Given the description of an element on the screen output the (x, y) to click on. 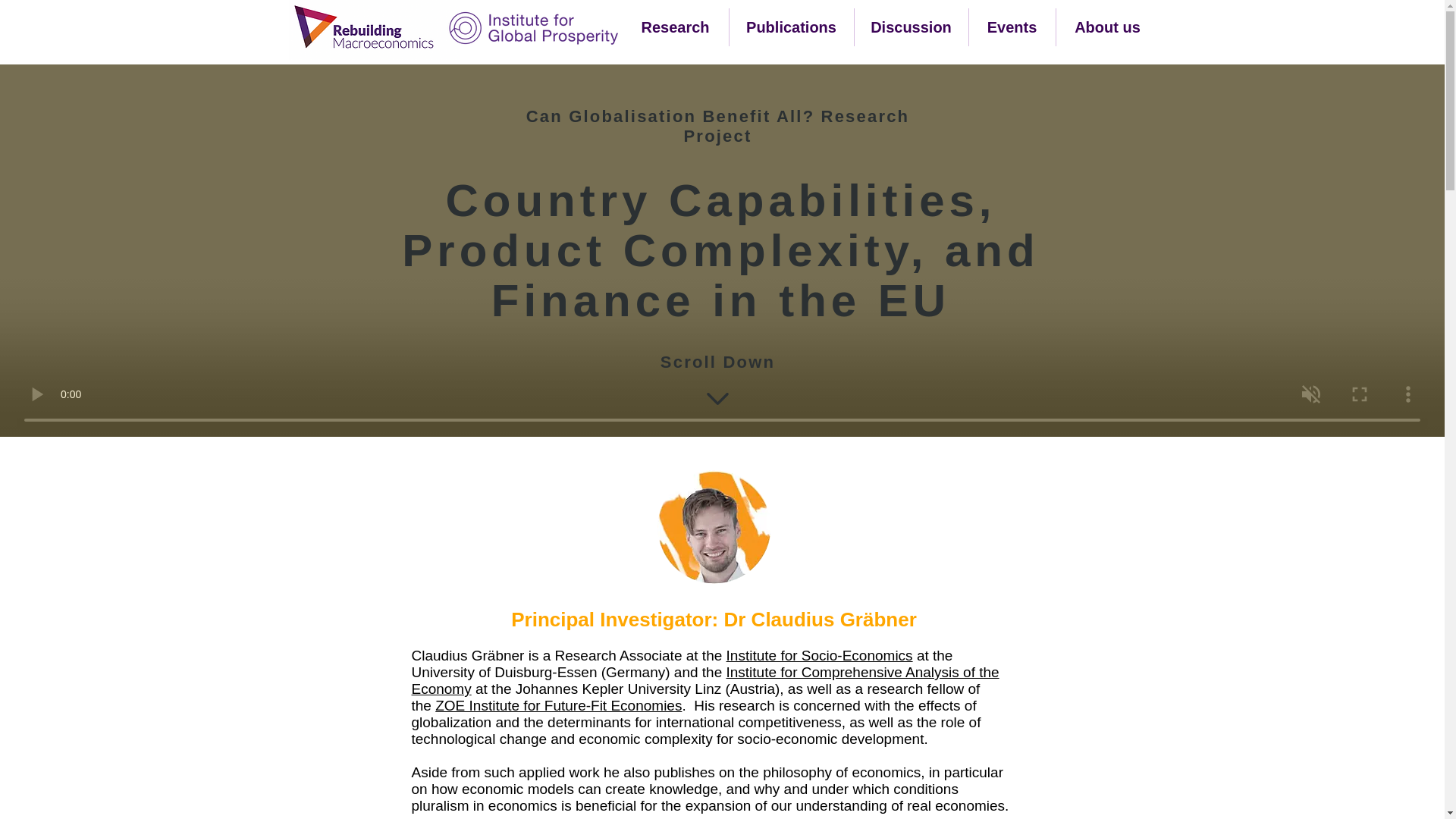
ZOE Institute for Future-Fit Economies (558, 705)
Publications (791, 26)
Institute for Socio-Economics (819, 655)
GettyImages-145680711.jpg (713, 526)
Institute for Comprehensive Analysis of the Economy (704, 680)
Events (1012, 26)
About us (1106, 26)
